Given the description of an element on the screen output the (x, y) to click on. 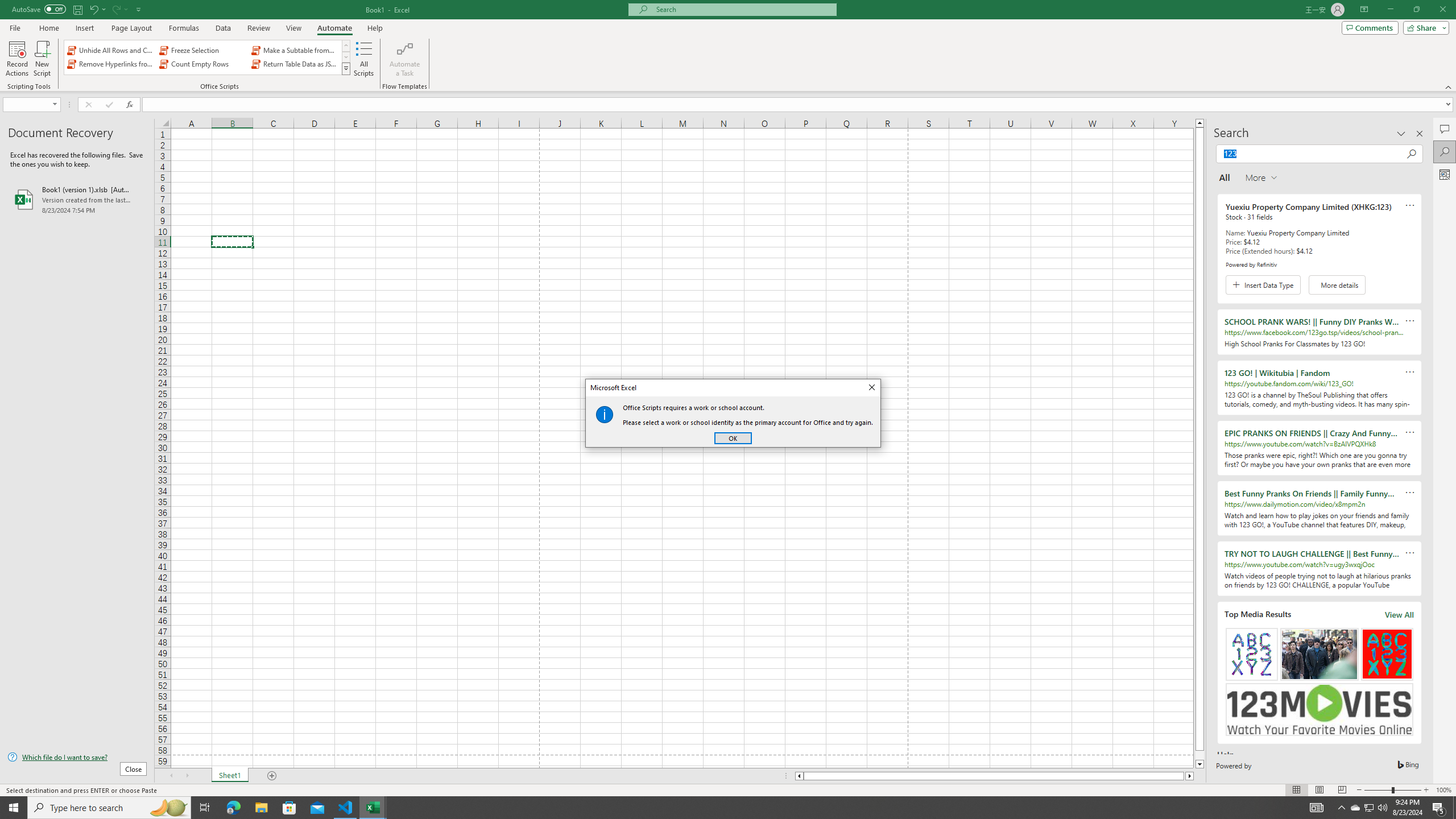
Class: Static (603, 414)
Type here to search (108, 807)
Action Center, 5 new notifications (1439, 807)
New Script (41, 58)
